Given the description of an element on the screen output the (x, y) to click on. 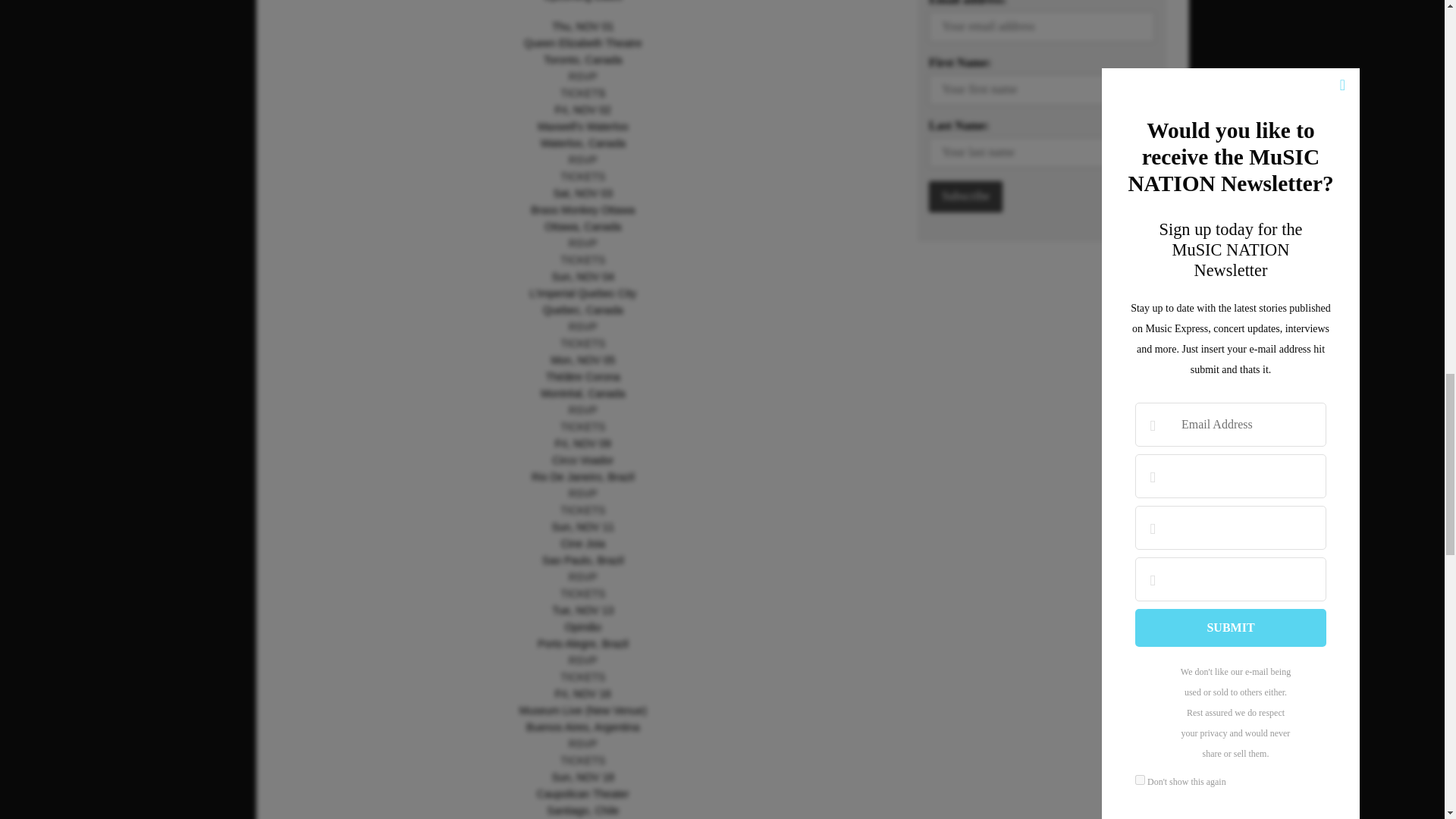
RSVP (582, 159)
Subscribe (965, 196)
RSVP (582, 76)
TICKET (579, 92)
TICKETS (582, 176)
RSVP (582, 243)
TICKETS (582, 343)
TICKETS (582, 259)
RSVP (582, 326)
